Given the description of an element on the screen output the (x, y) to click on. 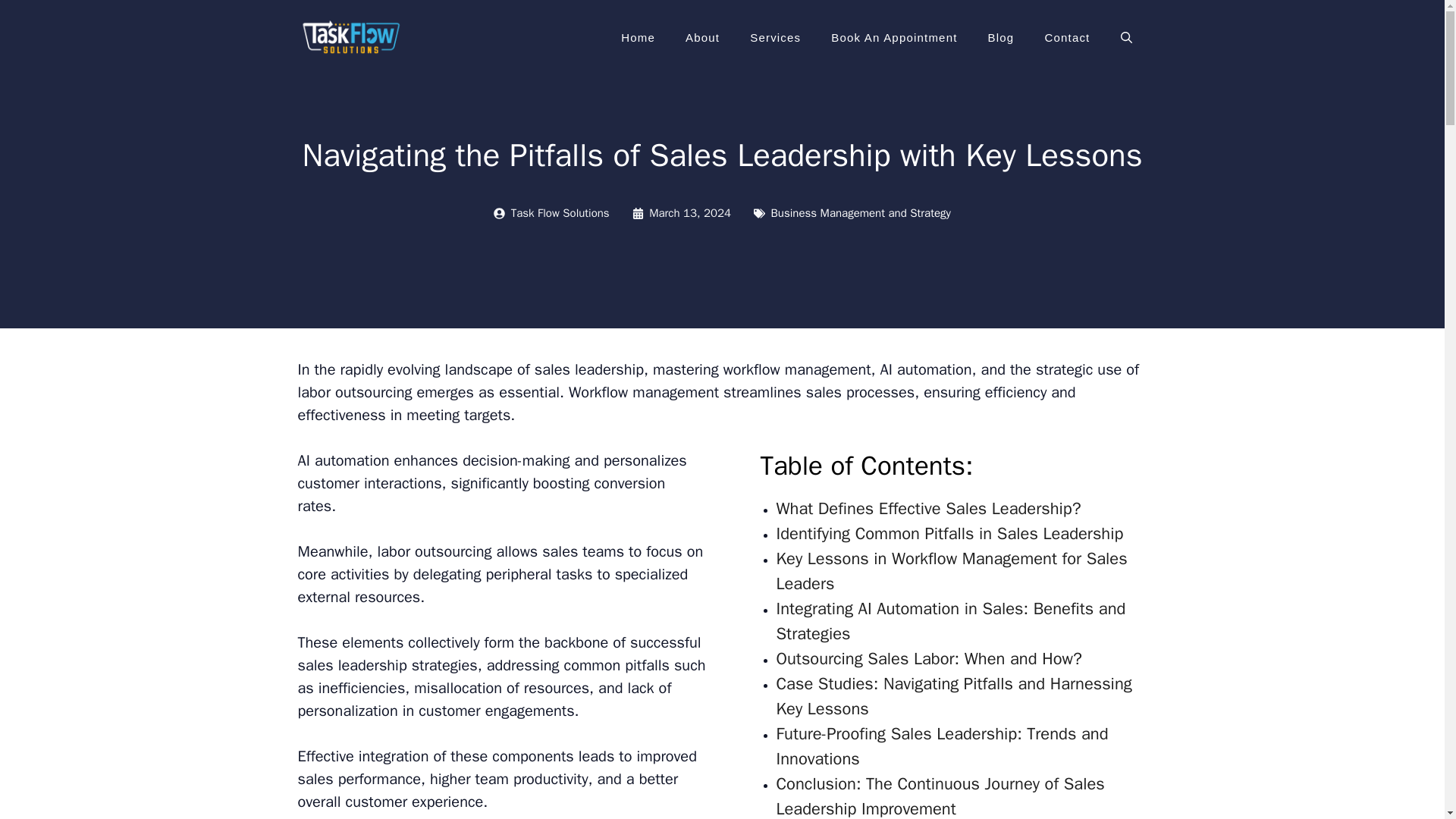
Identifying Common Pitfalls in Sales Leadership (950, 534)
Business Management and Strategy (860, 213)
Outsourcing Sales Labor: When and How? (928, 659)
Contact (1067, 37)
Integrating AI Automation in Sales: Benefits and Strategies (950, 621)
Key Lessons in Workflow Management for Sales Leaders (951, 572)
Case Studies: Navigating Pitfalls and Harnessing Key Lessons (954, 697)
Services (775, 37)
Blog (1000, 37)
Home (637, 37)
Future-Proofing Sales Leadership: Trends and Innovations (942, 747)
What Defines Effective Sales Leadership? (928, 509)
About (702, 37)
Book An Appointment (893, 37)
